Given the description of an element on the screen output the (x, y) to click on. 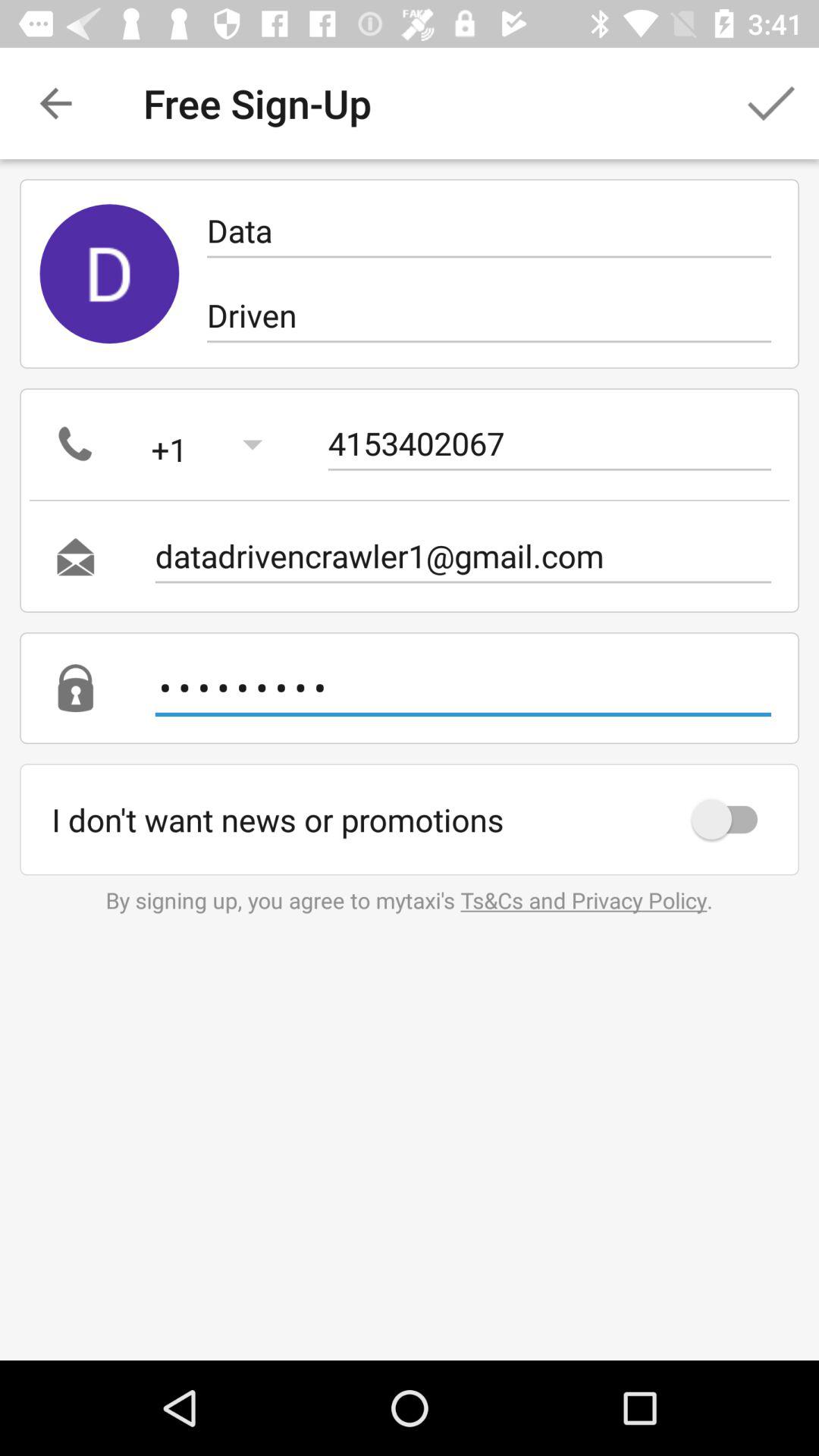
select icon above 4153402067 icon (489, 315)
